Given the description of an element on the screen output the (x, y) to click on. 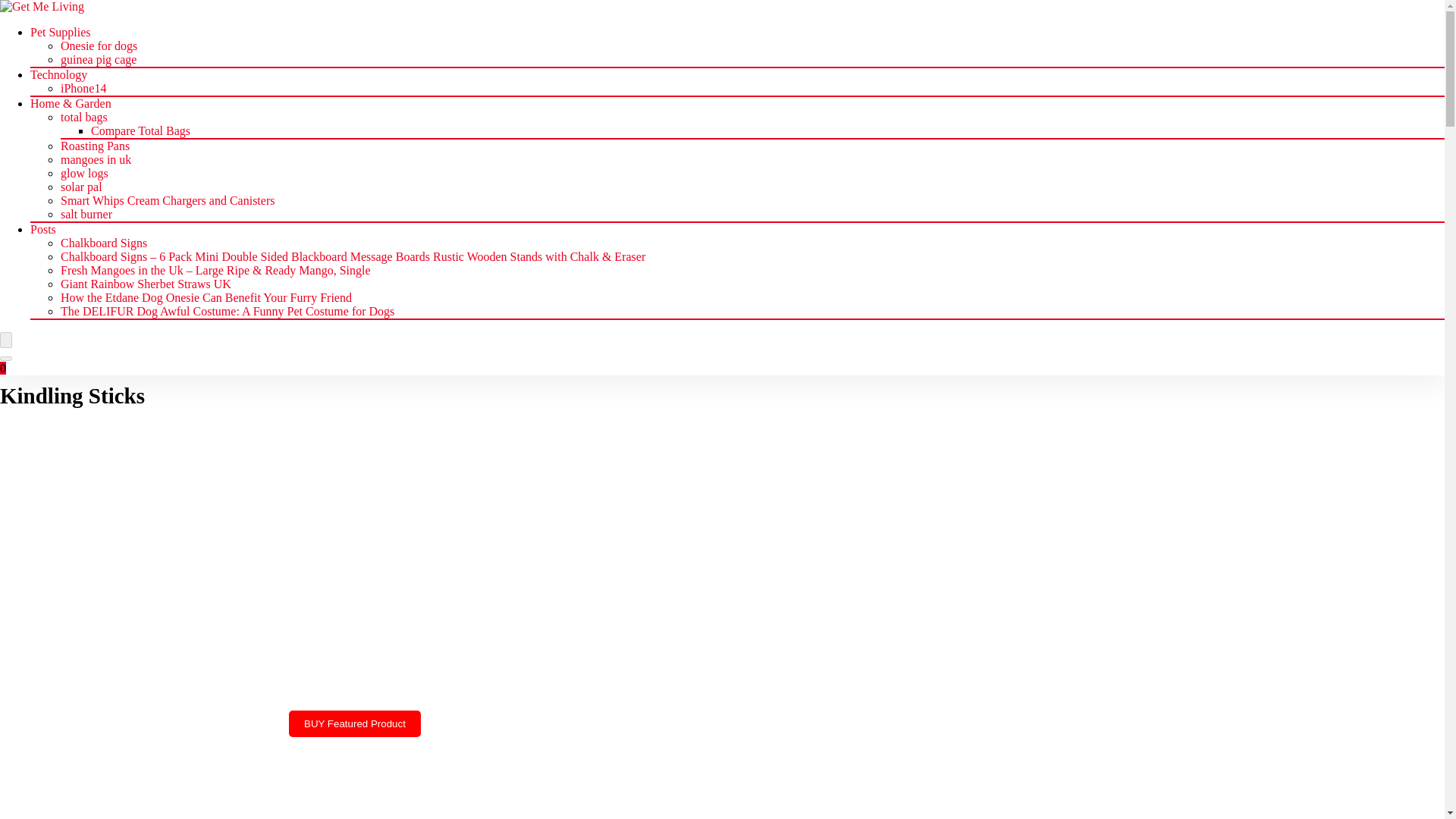
Roasting Pans (95, 145)
iPhone14 (83, 88)
mangoes in uk (96, 159)
Pet Supplies (60, 31)
Smart Whips Cream Chargers and Canisters (168, 200)
Chalkboard Signs (104, 242)
BUY Featured Product (354, 723)
glow logs (84, 173)
Posts (43, 228)
Giant Rainbow Sherbet Straws UK (146, 283)
Compare Total Bags (140, 130)
How the Etdane Dog Onesie Can Benefit Your Furry Friend (206, 297)
Onesie for dogs (98, 45)
The DELIFUR Dog Awful Costume: A Funny Pet Costume for Dogs (227, 310)
guinea pig cage (98, 59)
